Given the description of an element on the screen output the (x, y) to click on. 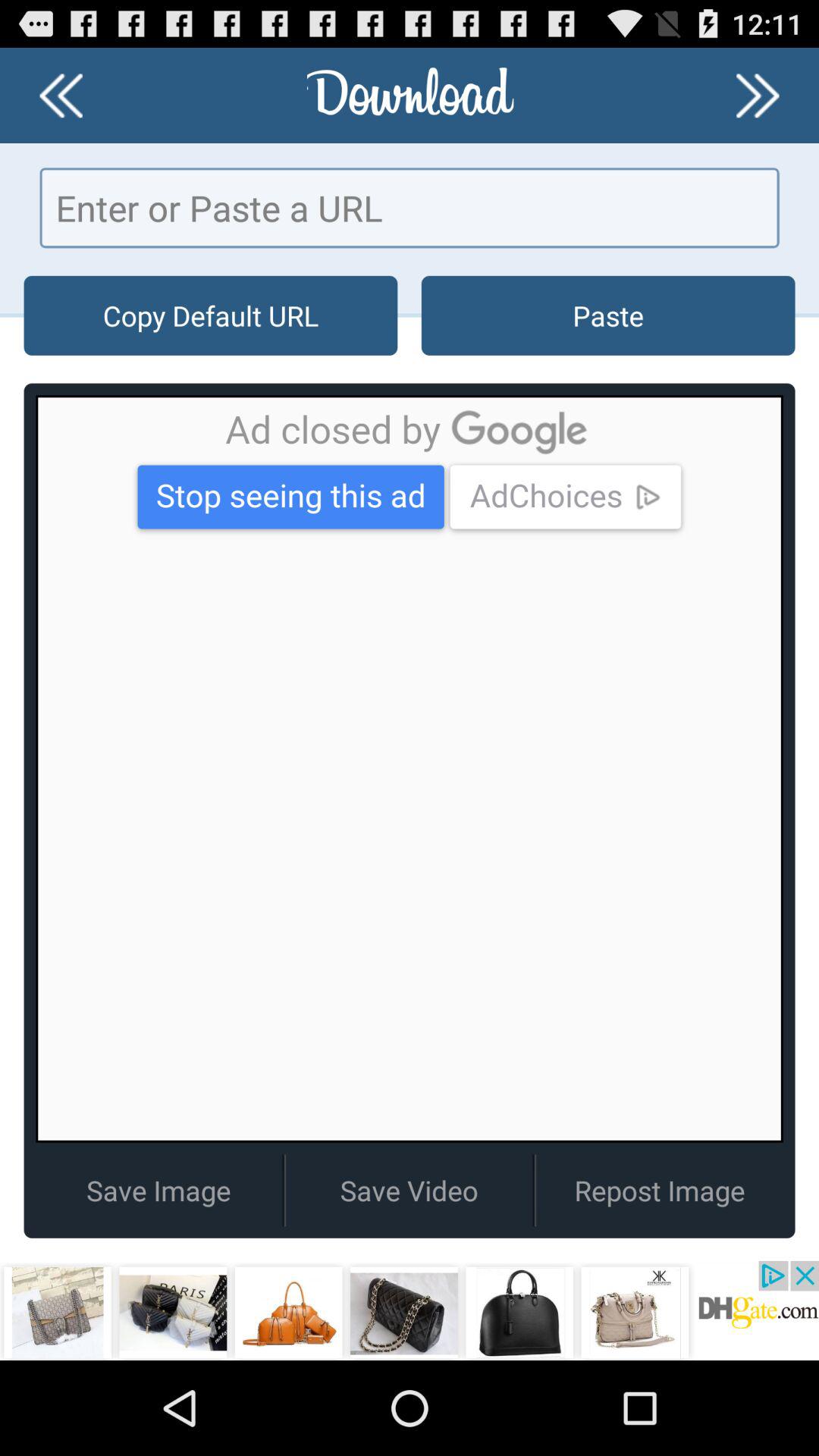
go forward (757, 95)
